Given the description of an element on the screen output the (x, y) to click on. 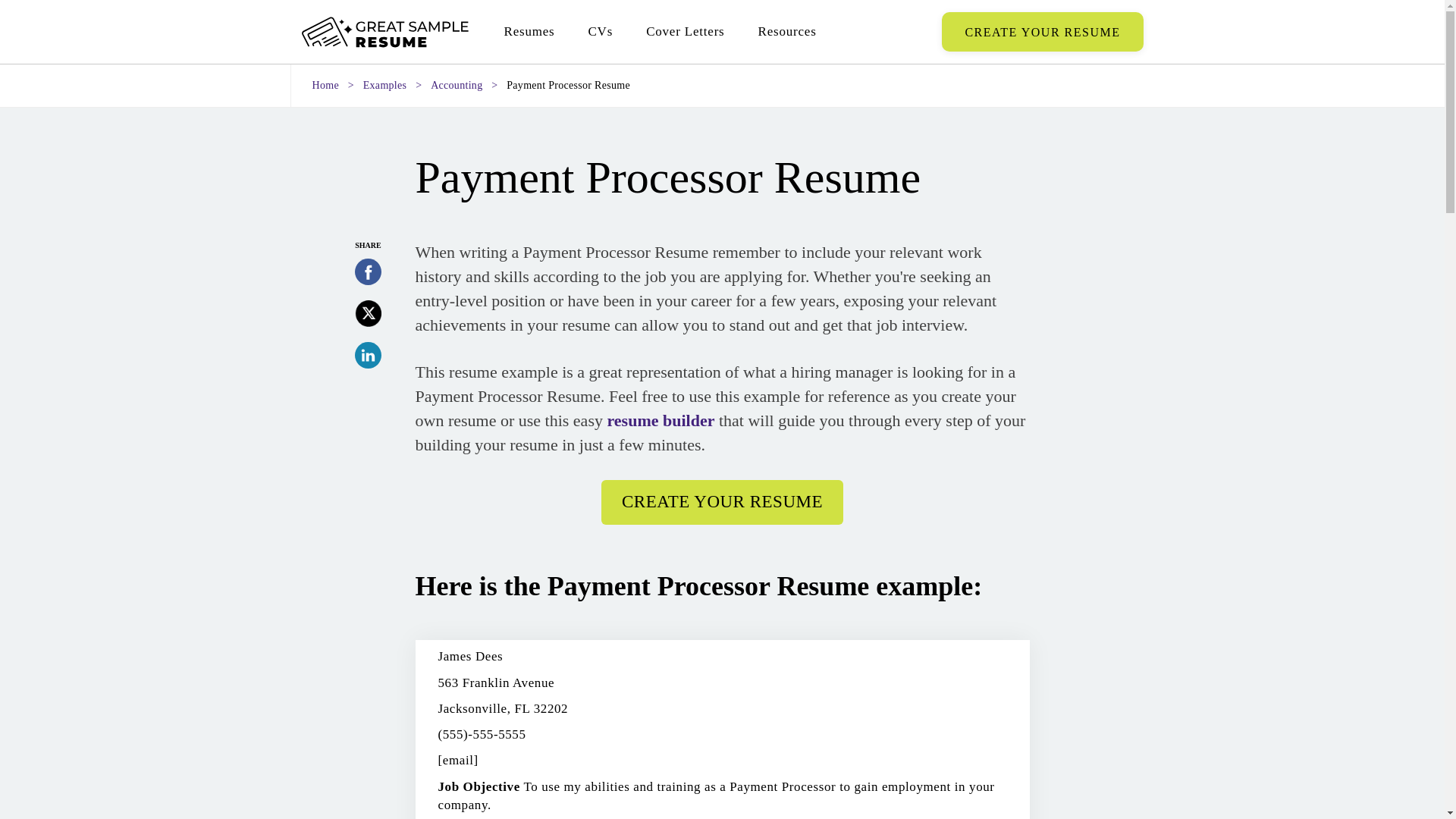
Resources (786, 31)
CVs (599, 31)
Great Sample Resume (384, 31)
Cover Letters (684, 31)
Resumes (528, 31)
